Given the description of an element on the screen output the (x, y) to click on. 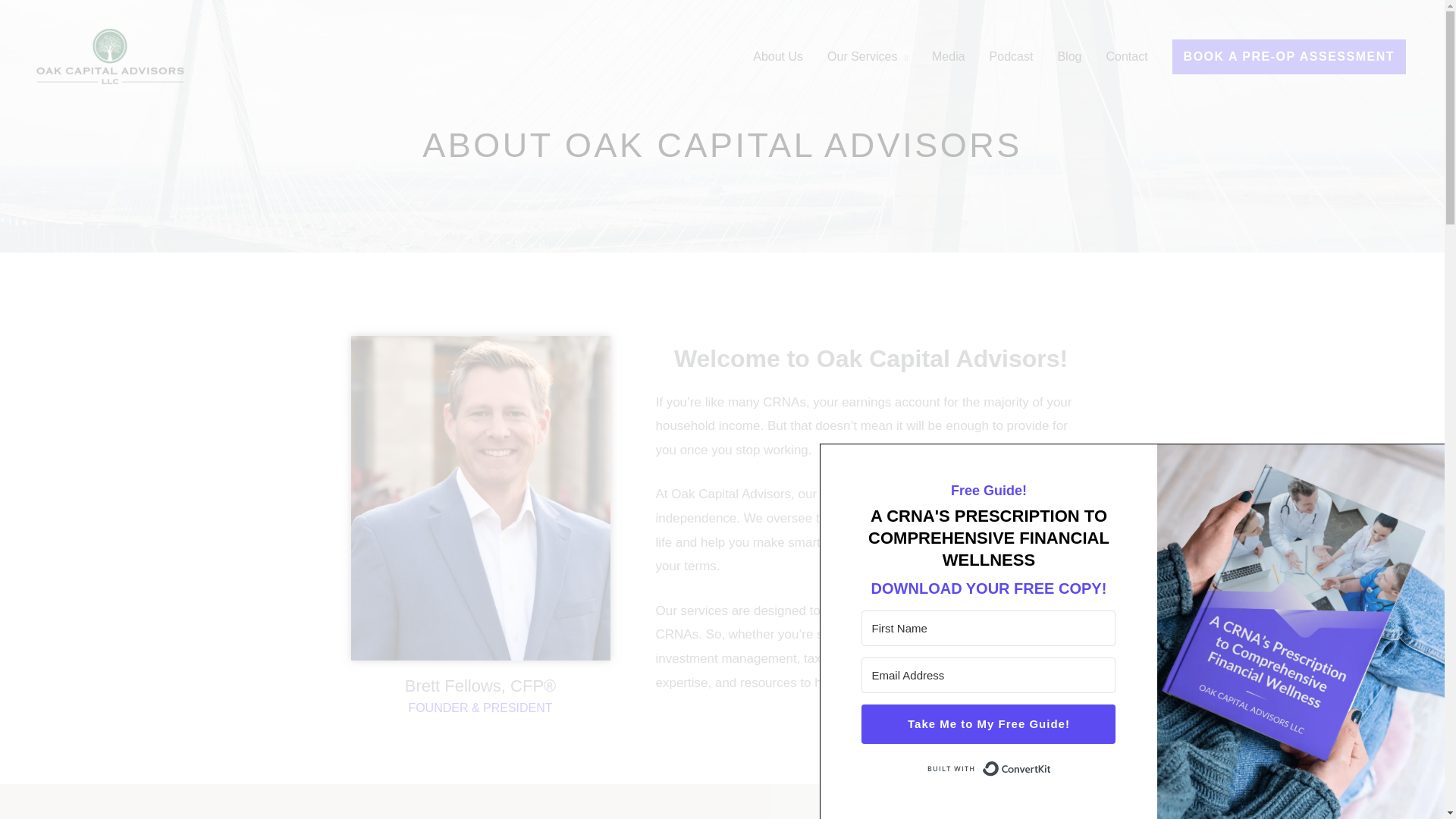
Blog (1069, 55)
Podcast (1010, 55)
Media (948, 55)
Contact (1125, 55)
BOOK A PRE-OP ASSESSMENT (1289, 56)
Our Services (867, 55)
About Us (778, 55)
